Given the description of an element on the screen output the (x, y) to click on. 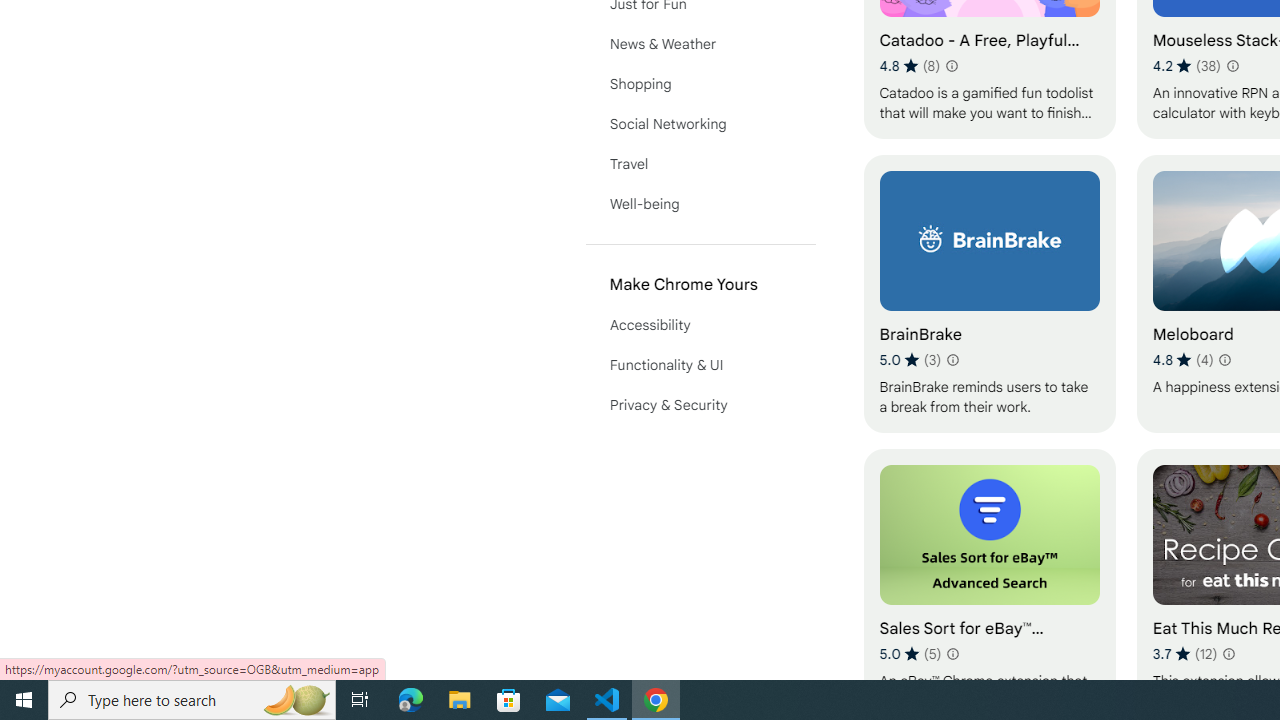
Average rating 4.8 out of 5 stars. 8 ratings. (909, 66)
Social Networking (700, 123)
Average rating 4.8 out of 5 stars. 4 ratings. (1182, 359)
Average rating 5 out of 5 stars. 3 ratings. (910, 359)
Shopping (700, 83)
Functionality & UI (700, 364)
Privacy & Security (700, 404)
News & Weather (700, 43)
Learn more about results and reviews "Meloboard" (1224, 359)
Accessibility (700, 324)
Well-being (700, 203)
Average rating 3.7 out of 5 stars. 12 ratings. (1185, 653)
Average rating 4.2 out of 5 stars. 38 ratings. (1187, 66)
